Given the description of an element on the screen output the (x, y) to click on. 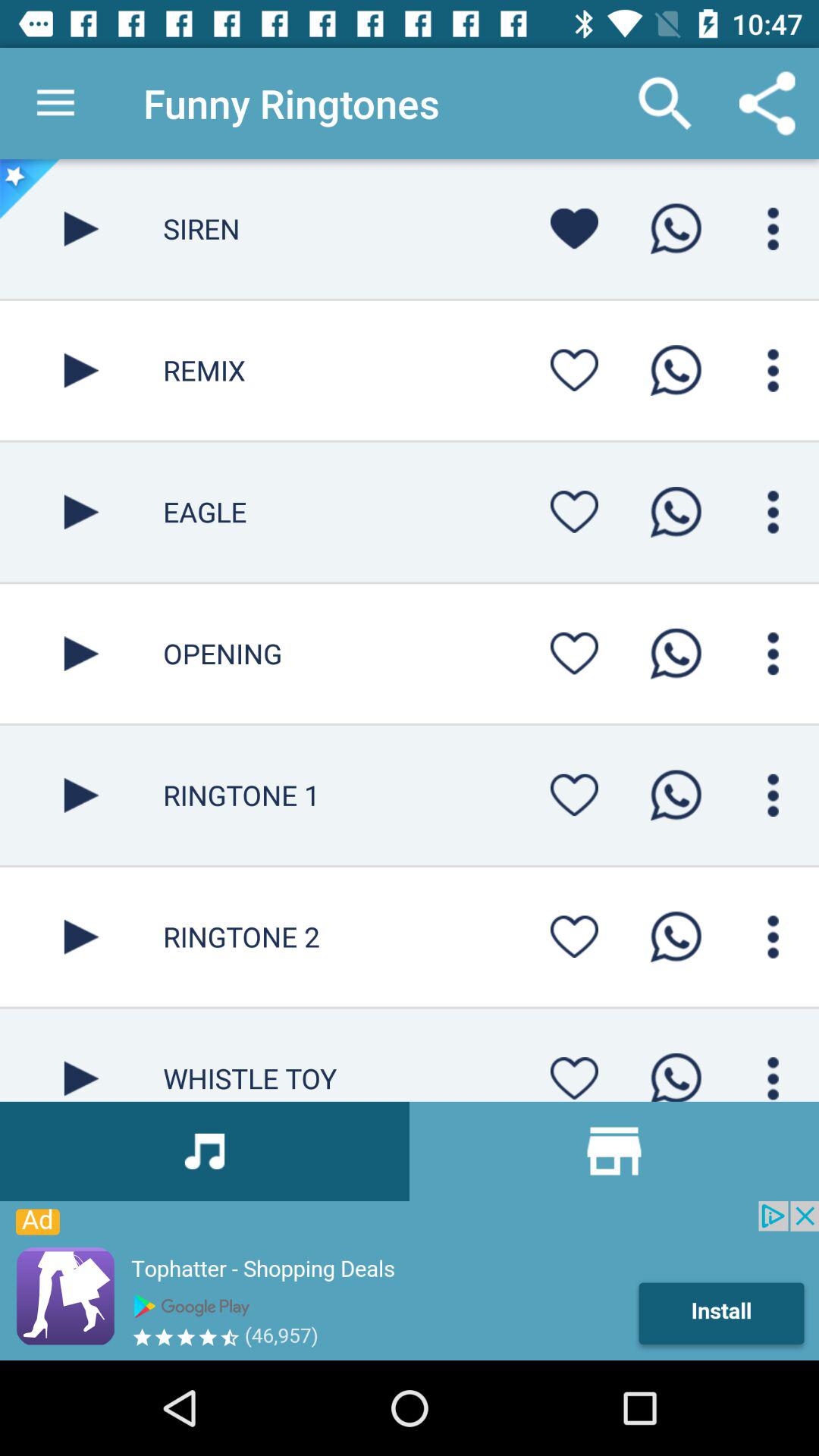
add to favorite (574, 369)
